Given the description of an element on the screen output the (x, y) to click on. 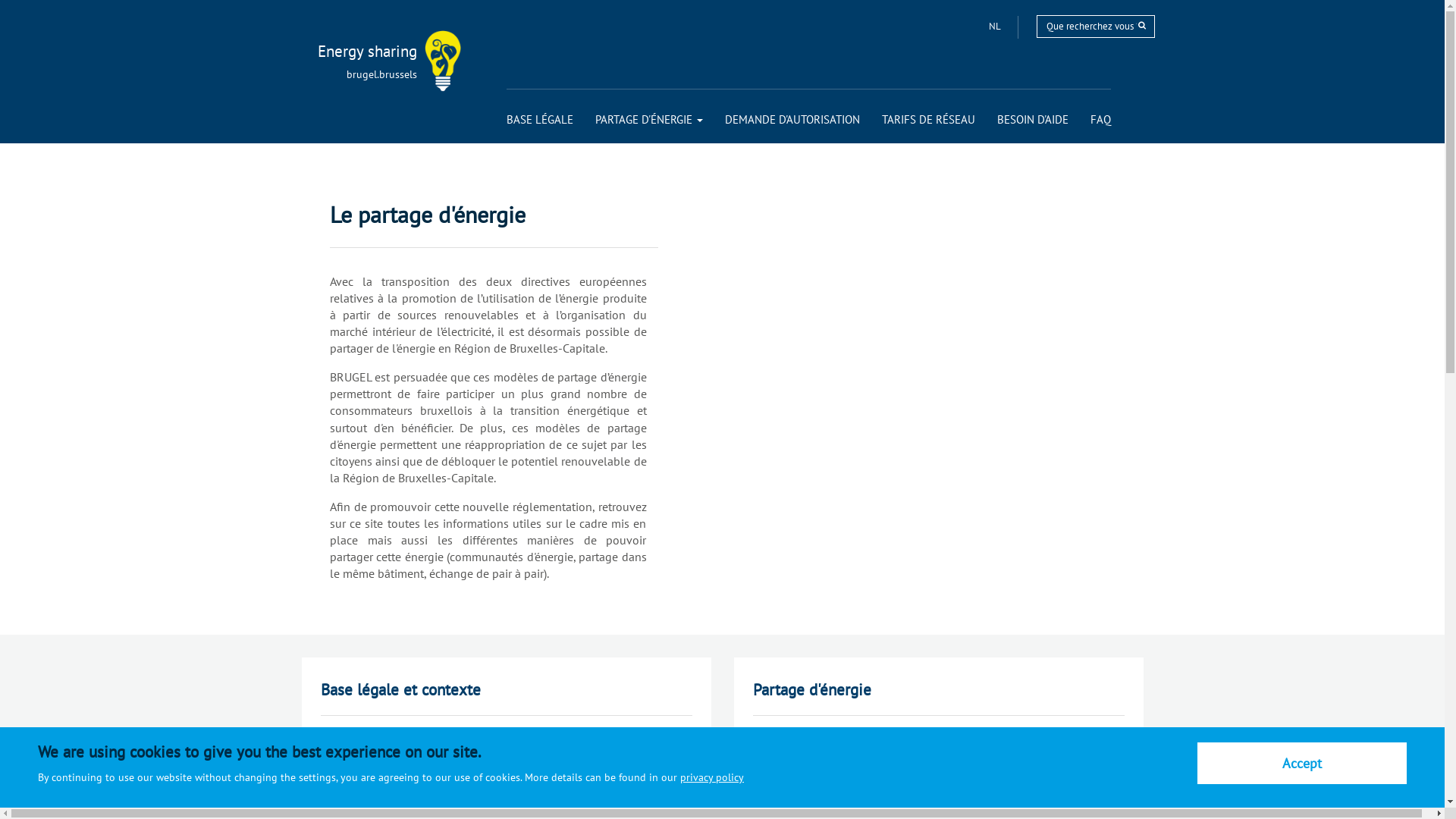
privacy policy Element type: text (711, 777)
Energy sharing
brugel.brussels Element type: text (348, 51)
NL Element type: text (995, 25)
Accept Element type: text (1301, 763)
DEMANDE D'AUTORISATION Element type: text (791, 119)
FAQ Element type: text (1100, 119)
BESOIN D'AIDE Element type: text (1031, 119)
